Given the description of an element on the screen output the (x, y) to click on. 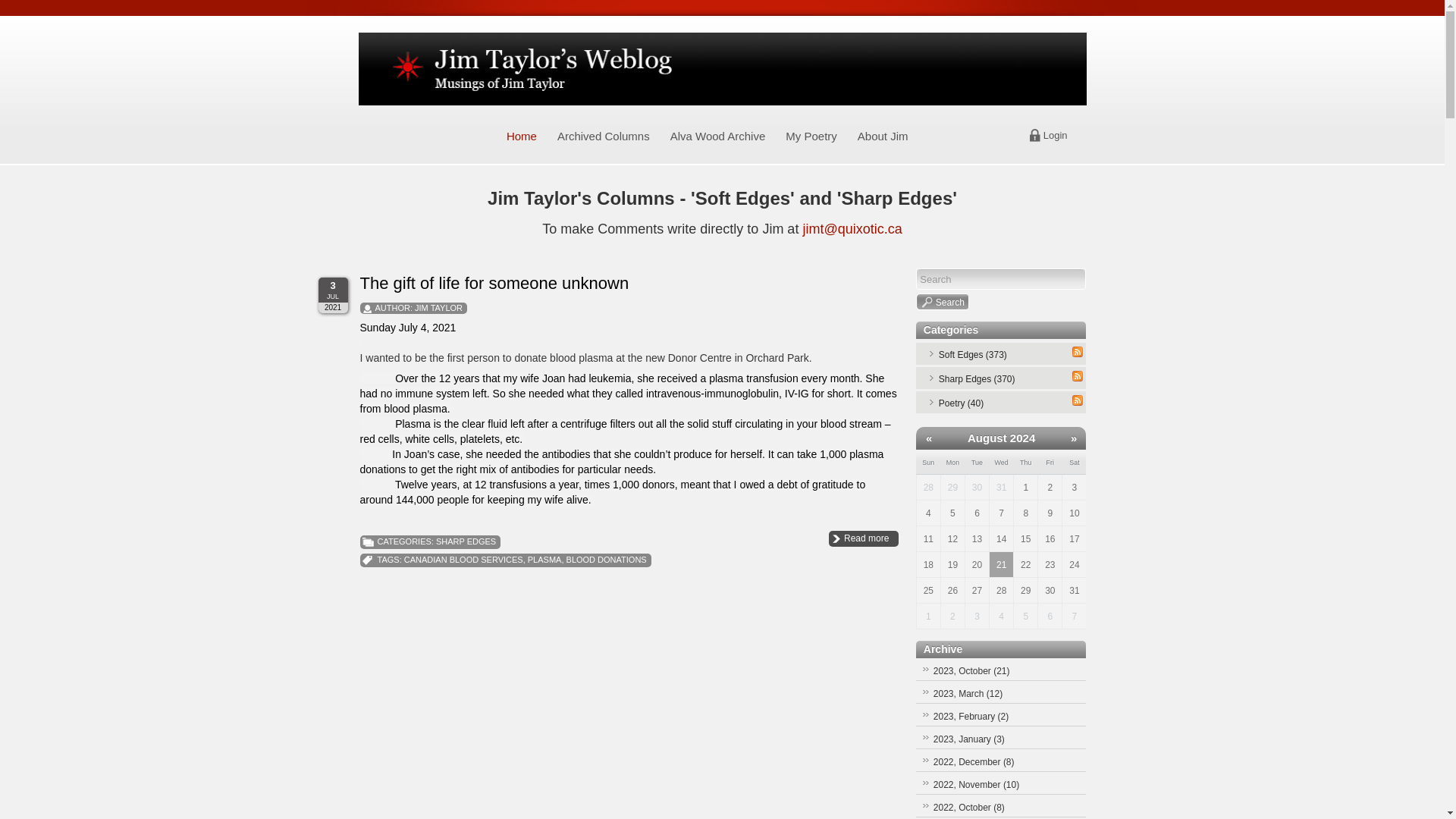
The gift of life for someone unknown (493, 282)
Read more (863, 538)
Search (942, 301)
PLASMA (544, 559)
Login (1055, 134)
Archived Columns (604, 135)
CANADIAN BLOOD SERVICES (463, 559)
SHARP EDGES (465, 541)
Home (521, 135)
My Poetry (811, 135)
